Given the description of an element on the screen output the (x, y) to click on. 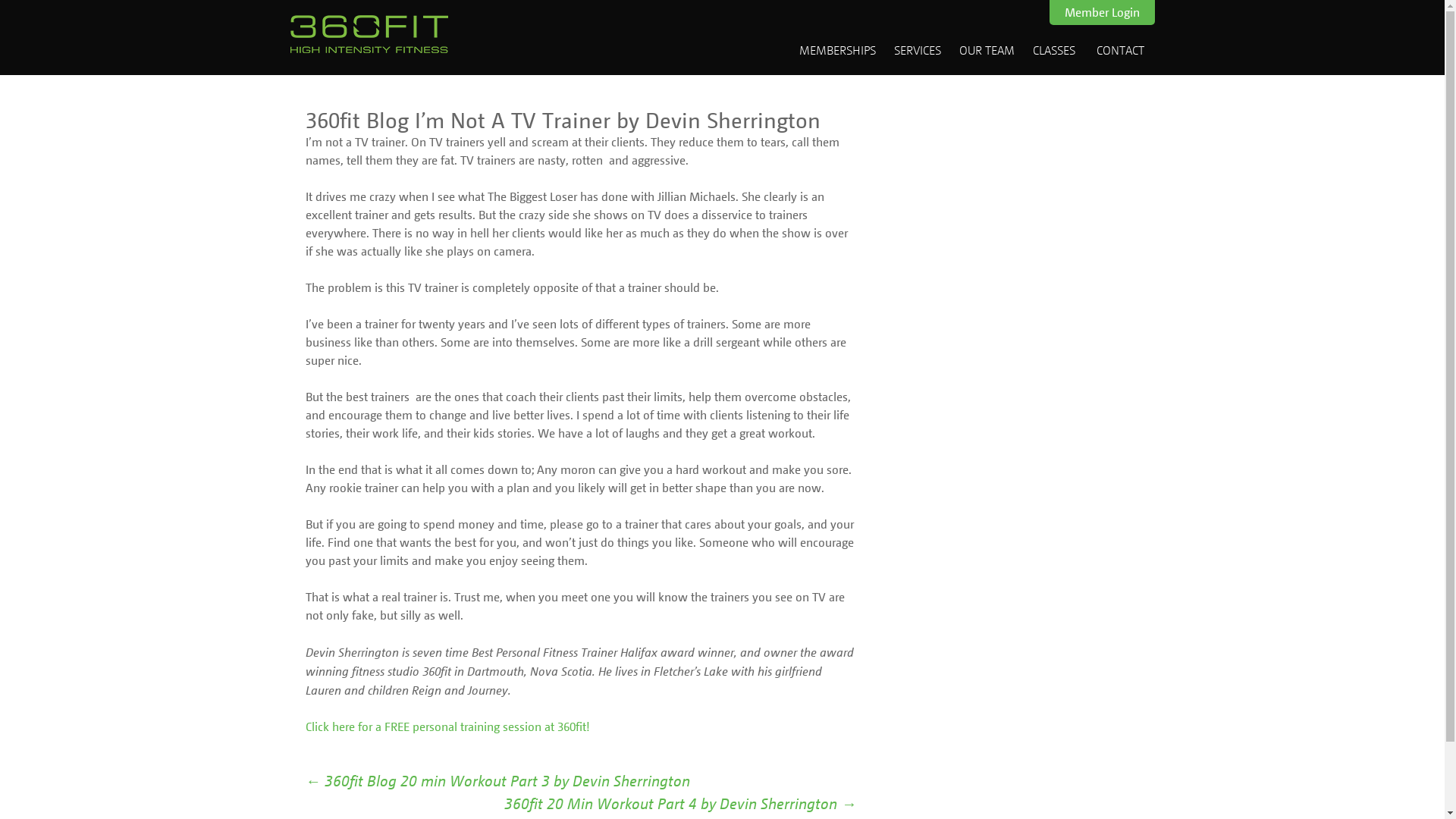
OUR TEAM Element type: text (985, 49)
Click here for a FREE personal training session at 360fit! Element type: text (446, 726)
MEMBERSHIPS Element type: text (837, 49)
CONTACT Element type: text (1119, 49)
CLASSES Element type: text (1053, 49)
SERVICES Element type: text (916, 49)
